Given the description of an element on the screen output the (x, y) to click on. 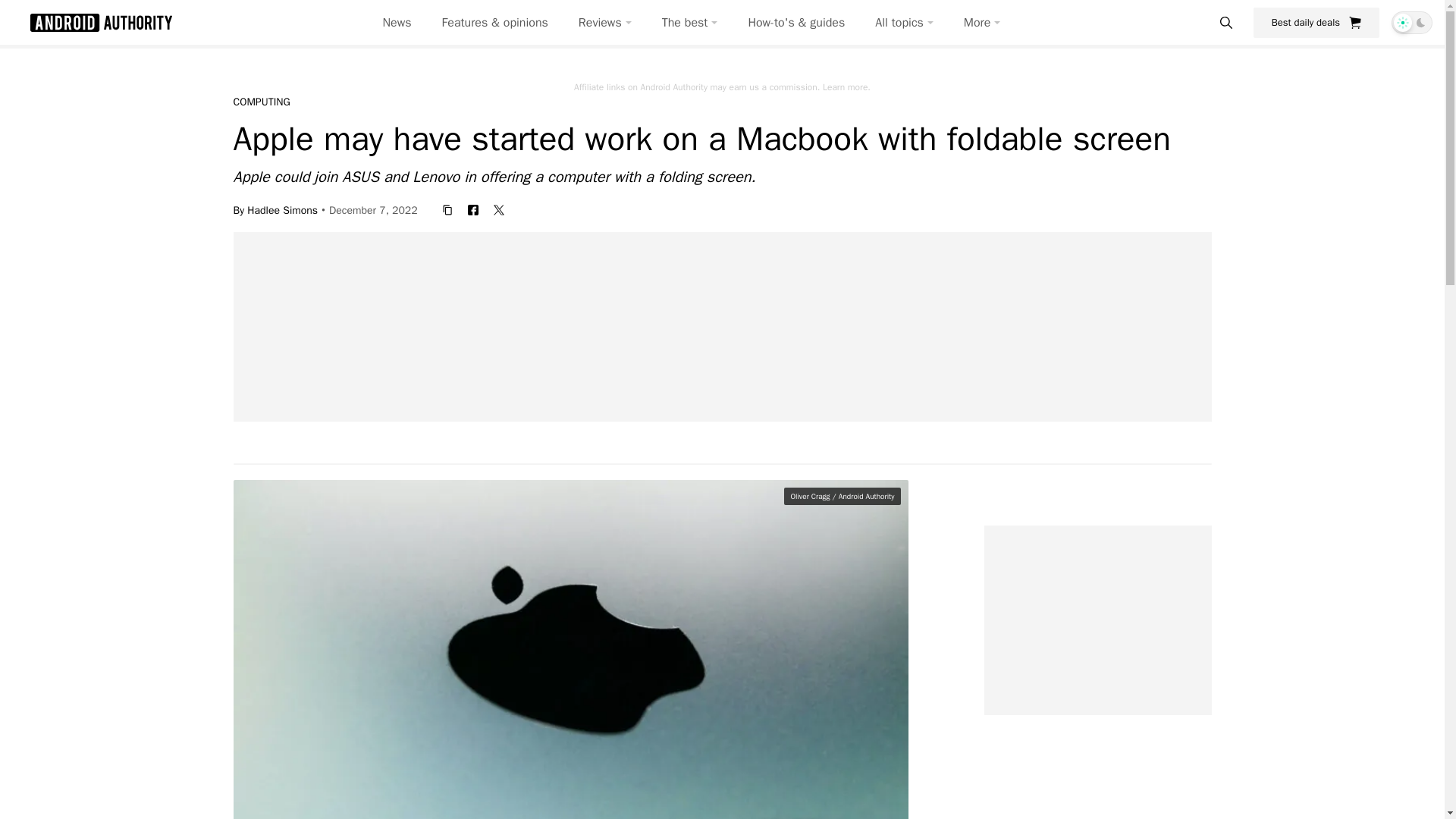
twitter (499, 209)
facebook (473, 209)
Reviews (604, 22)
The best (689, 22)
Learn more. (846, 86)
Best daily deals (1315, 22)
All topics (904, 22)
COMPUTING (260, 101)
Hadlee Simons (282, 209)
